Given the description of an element on the screen output the (x, y) to click on. 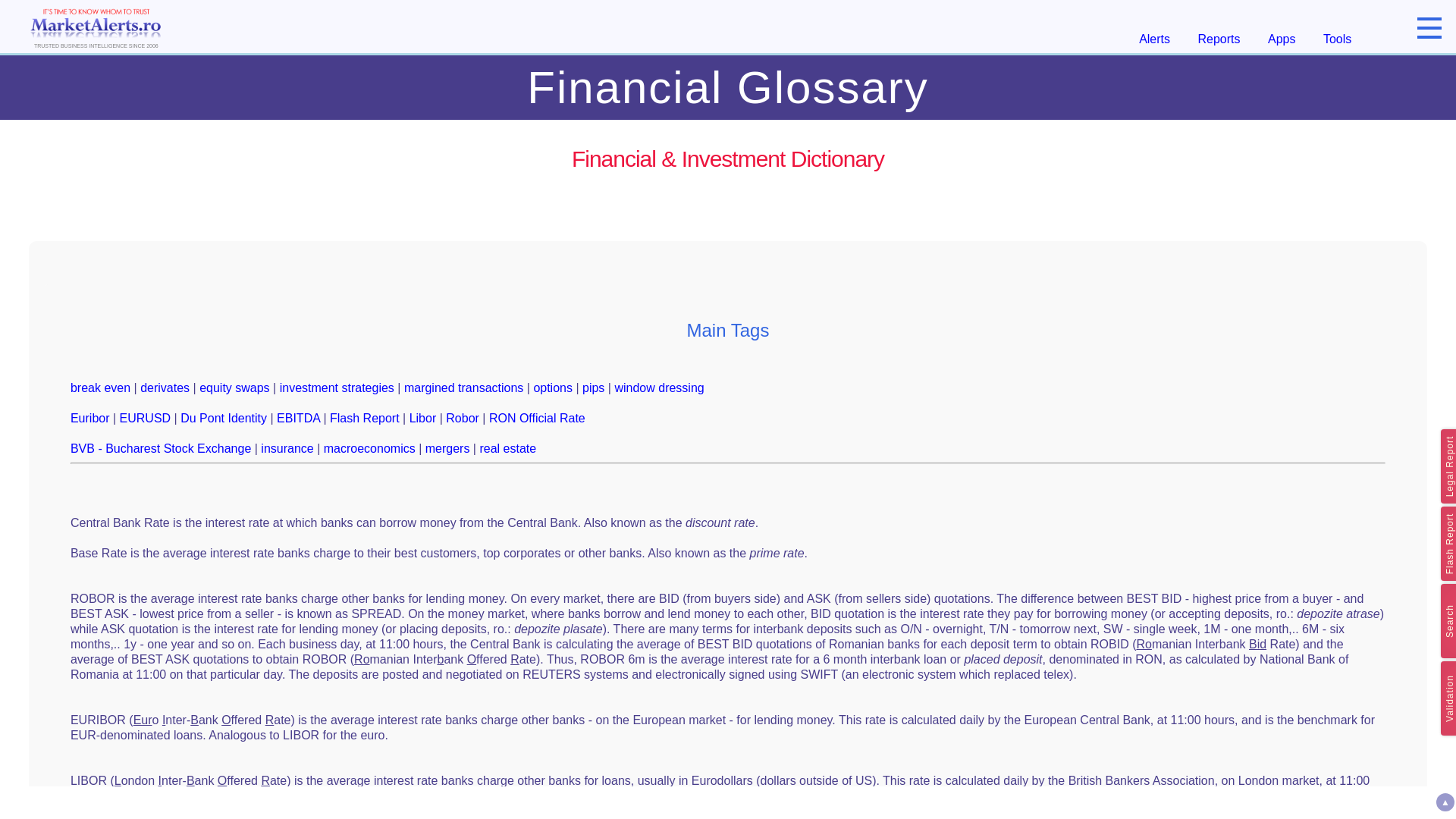
Top (1444, 802)
mergers (447, 448)
TRUSTED BUSINESS INTELLIGENCE SINCE 2006 (96, 26)
Alerts (1154, 38)
pips (593, 387)
macroeconomics (368, 448)
options (552, 387)
Du Pont Identity (223, 418)
break even (100, 387)
Tools (1337, 38)
window dressing (658, 387)
insurance (286, 448)
EBITDA (298, 418)
derivates (164, 387)
Libor (422, 418)
